Given the description of an element on the screen output the (x, y) to click on. 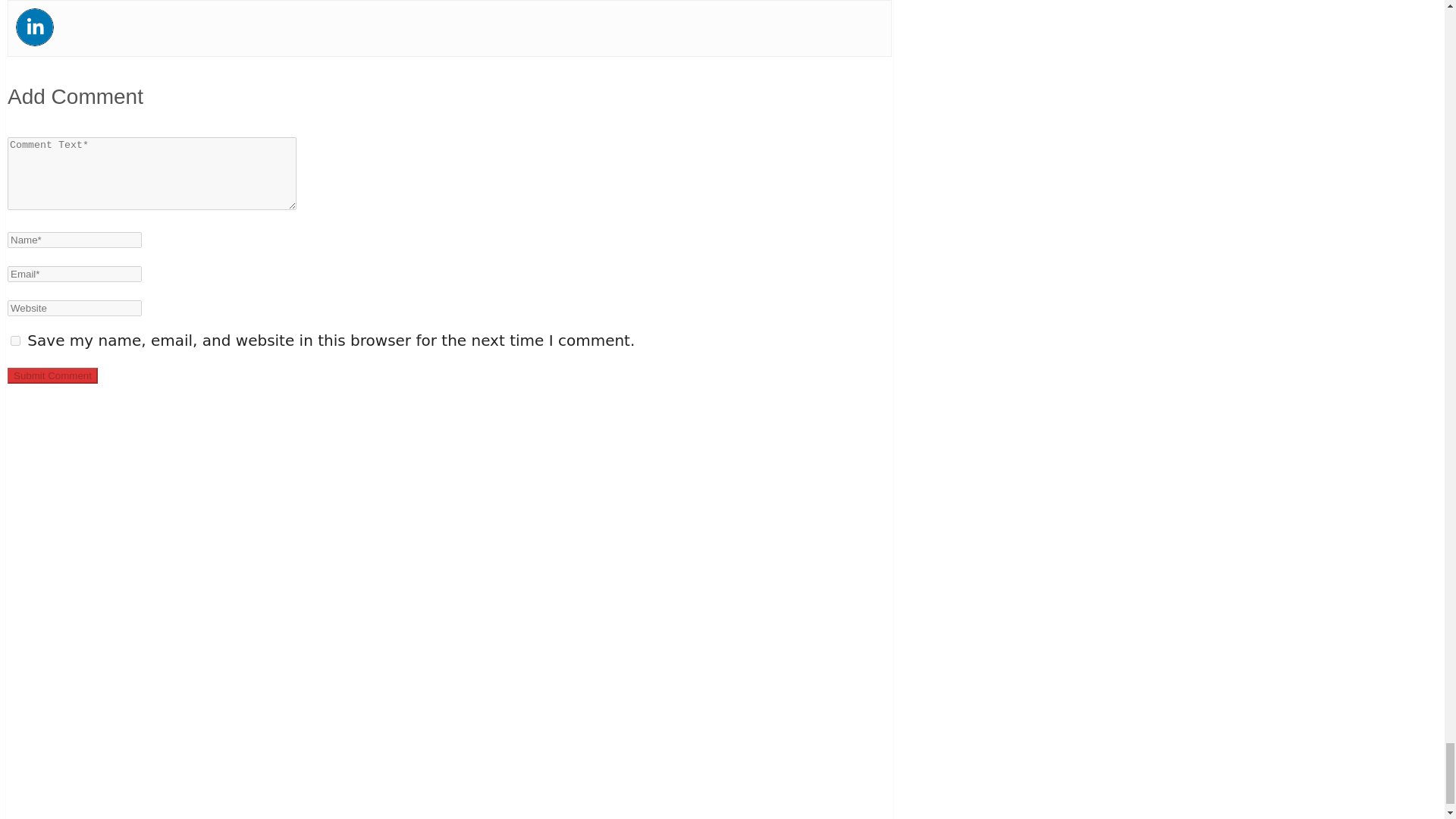
yes (15, 340)
Submit Comment (52, 375)
